Given the description of an element on the screen output the (x, y) to click on. 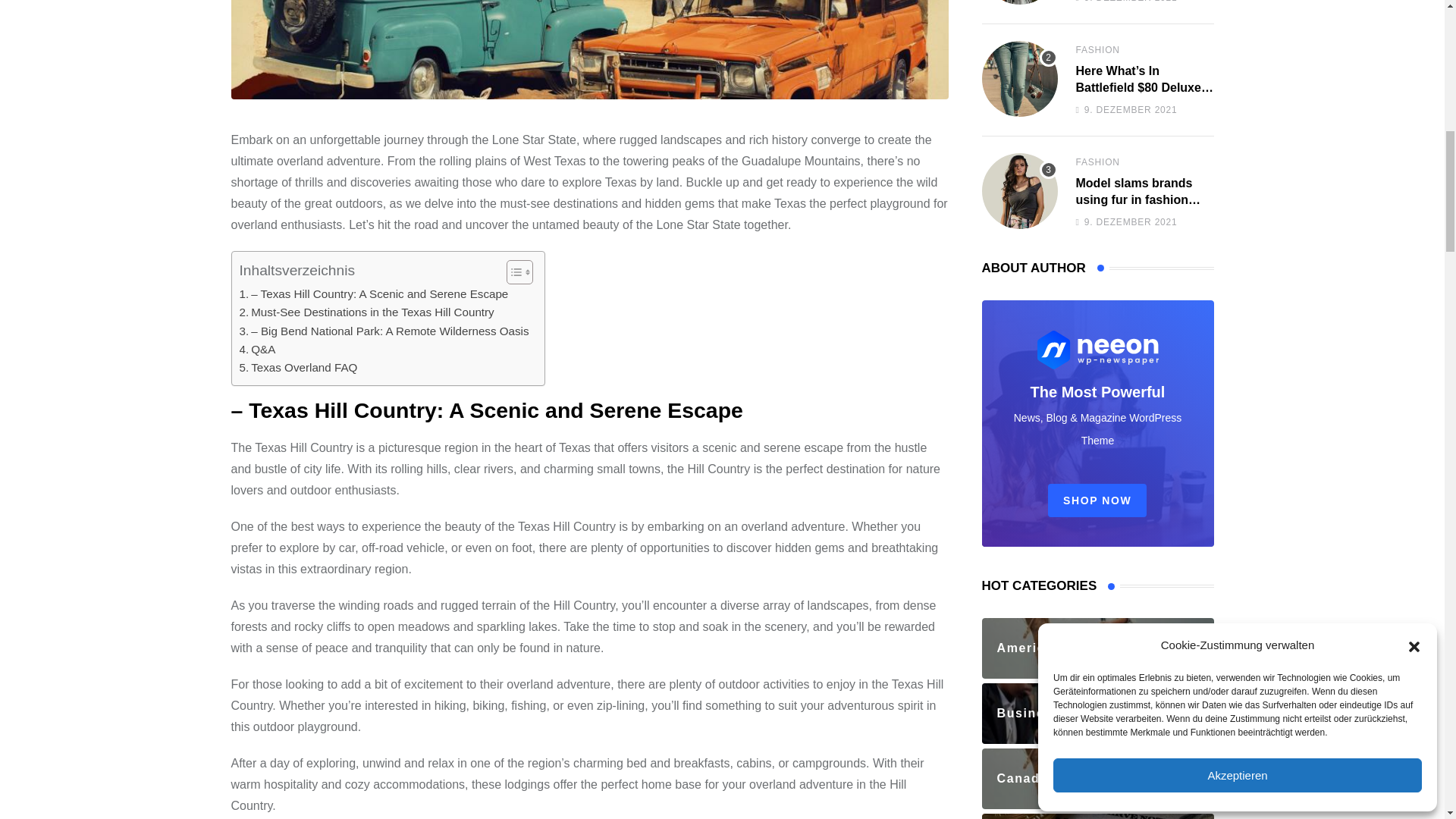
Must-See Destinations in the Texas Hill Country (367, 312)
Exploring Texas: Overland Adventures Await 1 (588, 49)
Budget Issues Force The Our To Be Cancelled (1019, 2)
Budget Issues Force The Our To Be Cancelled 2 (1019, 2)
Texas Overland FAQ (299, 367)
